Given the description of an element on the screen output the (x, y) to click on. 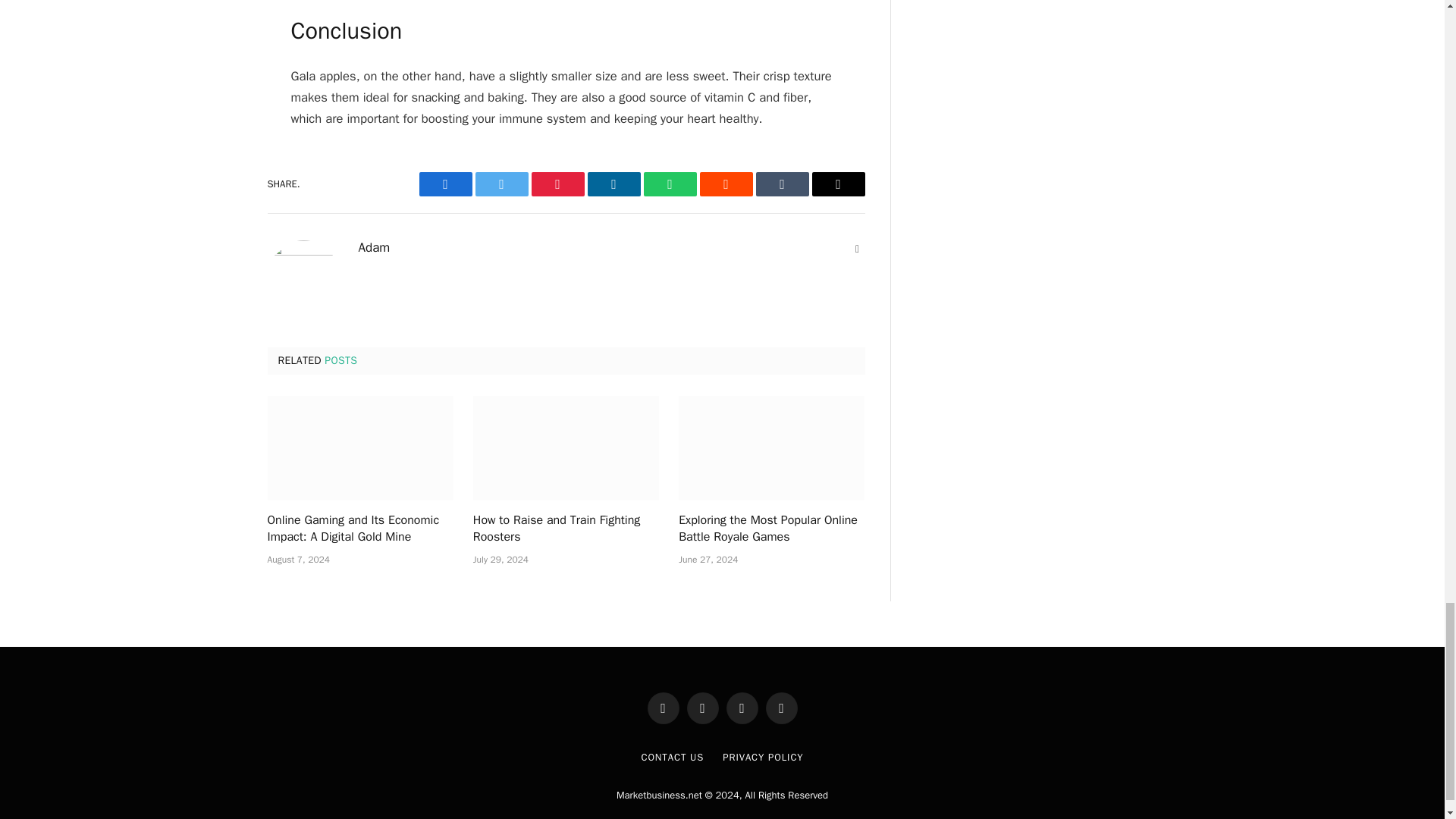
Share on LinkedIn (613, 183)
Pinterest (557, 183)
Share on Facebook (445, 183)
Reddit (725, 183)
Twitter (500, 183)
Facebook (445, 183)
WhatsApp (669, 183)
Tumblr (781, 183)
Share on Pinterest (557, 183)
LinkedIn (613, 183)
